Given the description of an element on the screen output the (x, y) to click on. 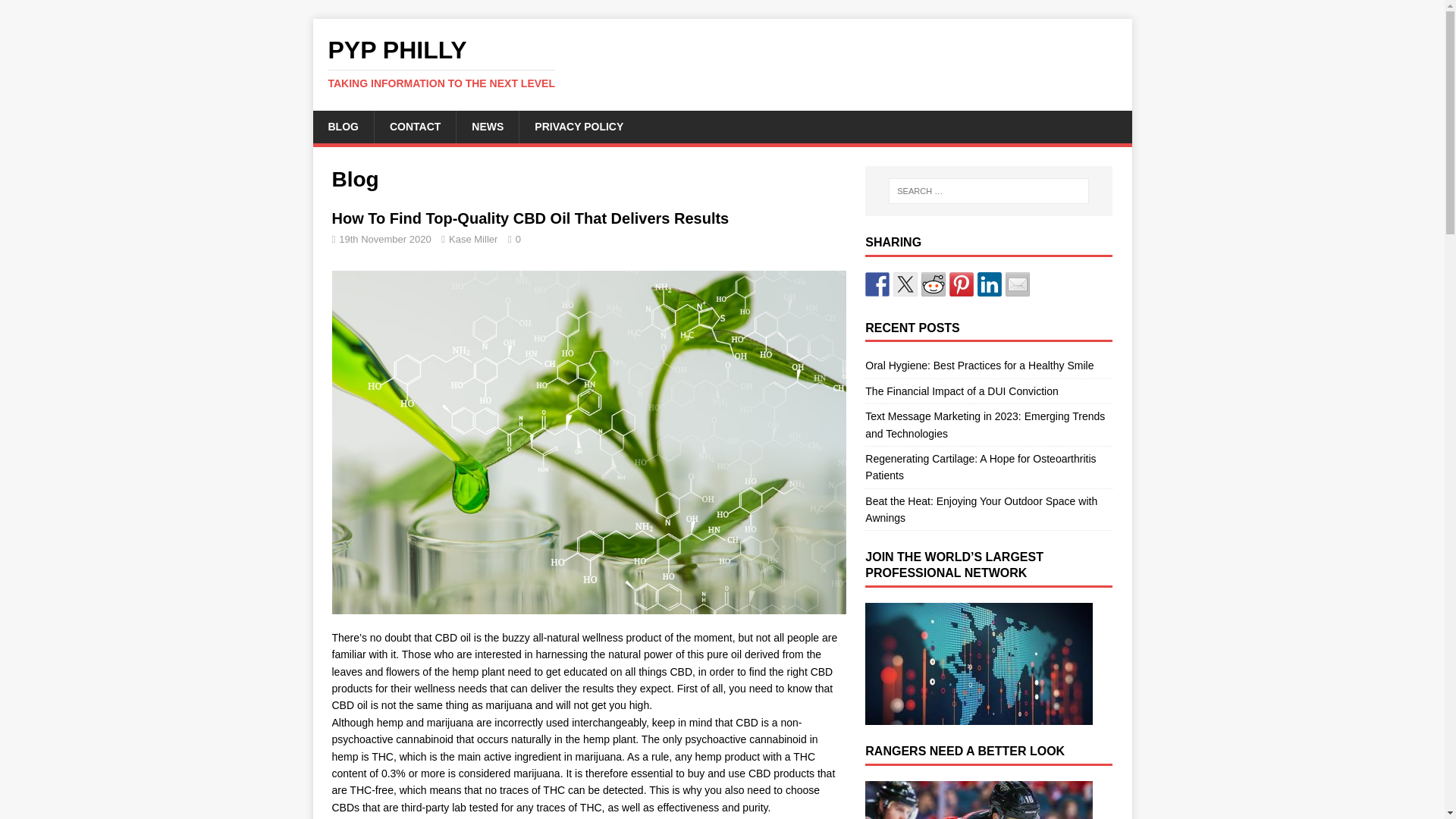
Share by email (1017, 283)
Oral Hygiene: Best Practices for a Healthy Smile (978, 365)
How To Find Top-Quality CBD Oil That Delivers Results (530, 217)
Share on Twitter (905, 283)
The Financial Impact of a DUI Conviction (961, 390)
Kase Miller (472, 238)
Search (56, 11)
NEWS (486, 126)
PRIVACY POLICY (578, 126)
pyp philly (721, 63)
